Given the description of an element on the screen output the (x, y) to click on. 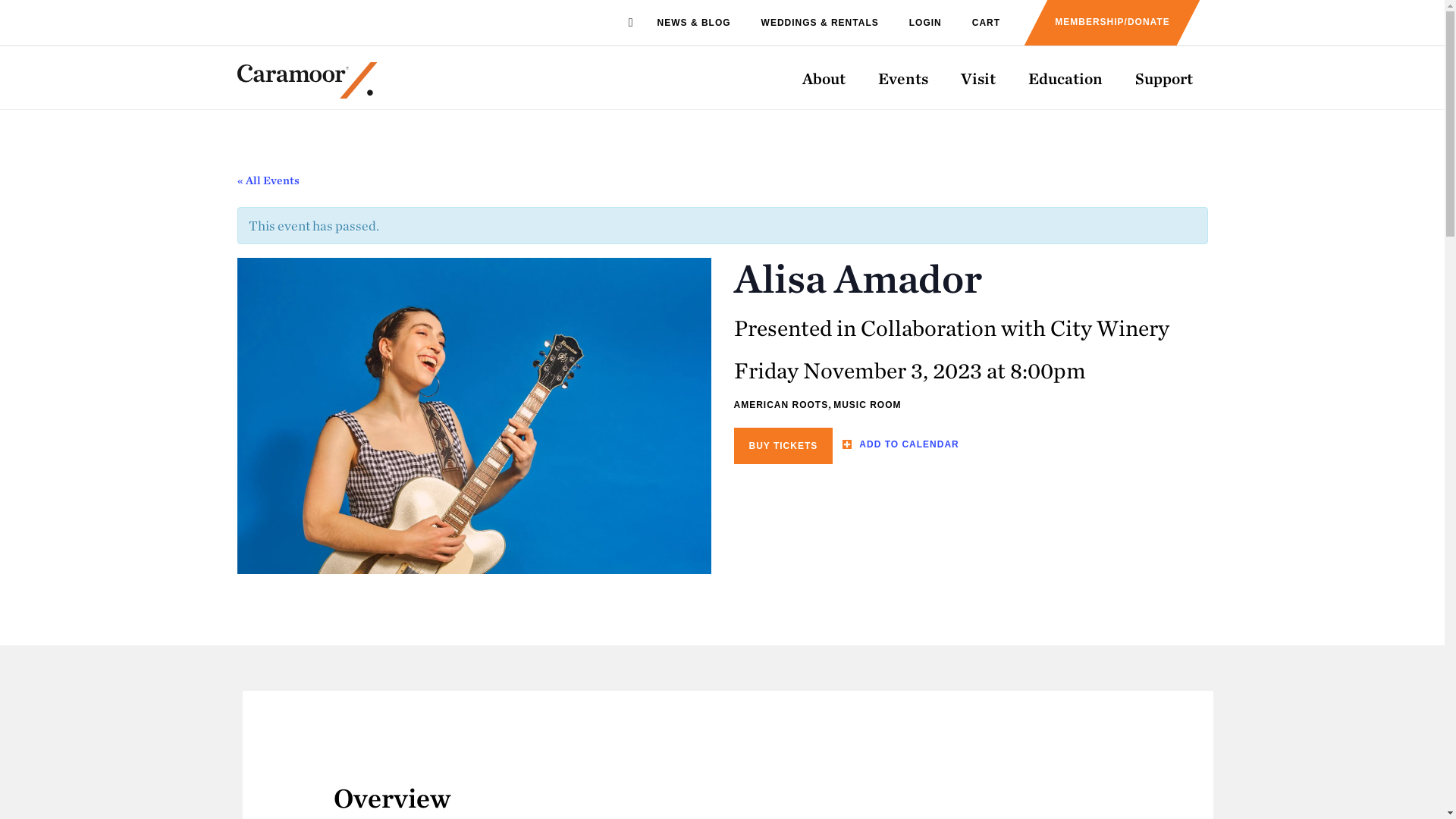
Support (1163, 77)
Visit (977, 77)
About (823, 77)
CART (985, 22)
Download .ics file (900, 444)
LOGIN (924, 22)
Education (1065, 77)
CARAMOOR (306, 86)
Events (903, 77)
